Given the description of an element on the screen output the (x, y) to click on. 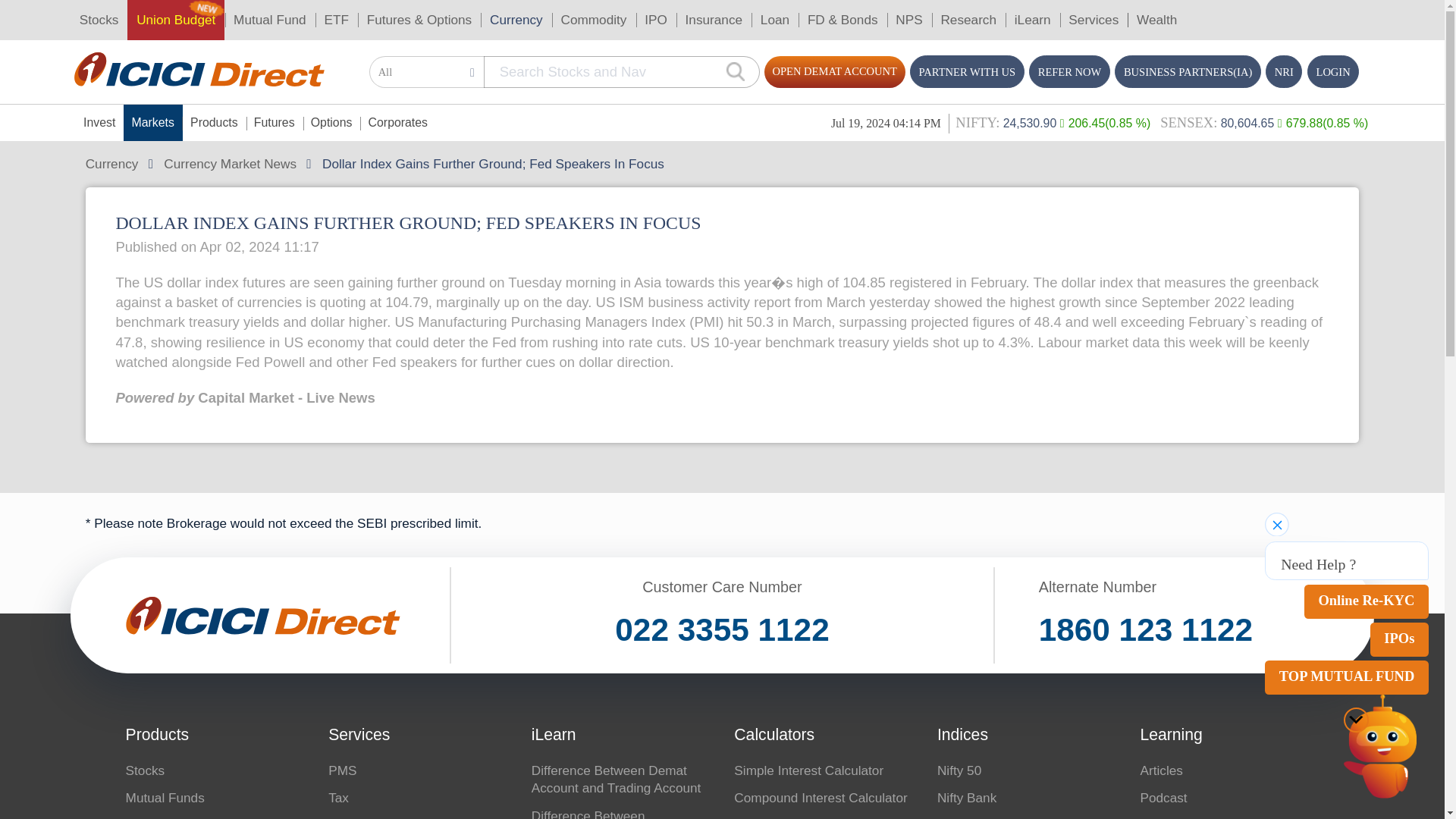
Union Budget (133, 15)
ETF (254, 15)
All (322, 54)
Mutual Fund (204, 15)
Currency (389, 15)
Stocks (74, 15)
